Given the description of an element on the screen output the (x, y) to click on. 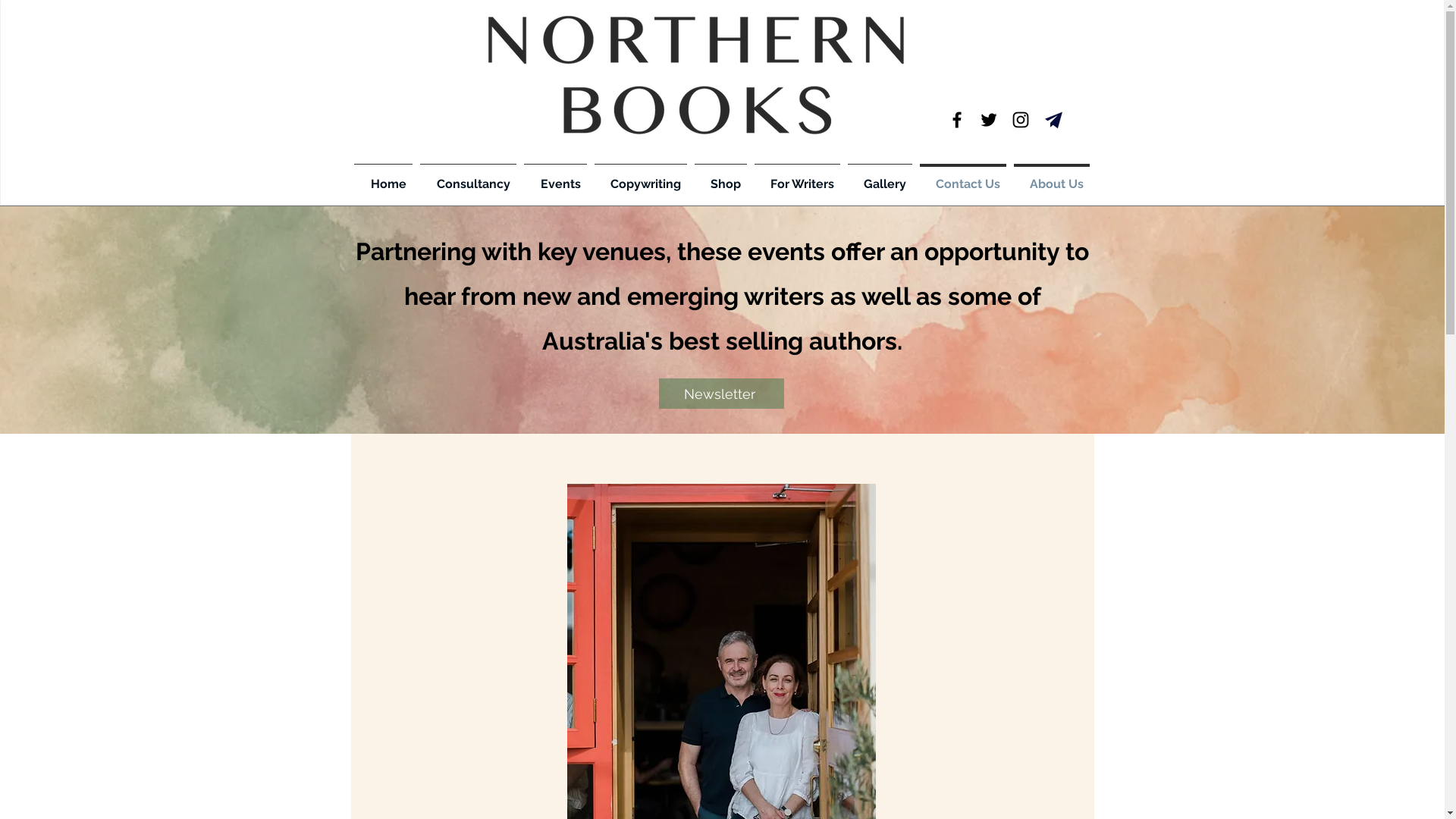
Gallery Element type: text (879, 177)
Home Element type: text (383, 177)
About Us Element type: text (1051, 177)
Newsletter Element type: text (720, 393)
Consultancy Element type: text (467, 177)
Shop Element type: text (719, 177)
For Writers Element type: text (797, 177)
Copywriting Element type: text (639, 177)
Events Element type: text (555, 177)
Contact Us Element type: text (963, 177)
